Given the description of an element on the screen output the (x, y) to click on. 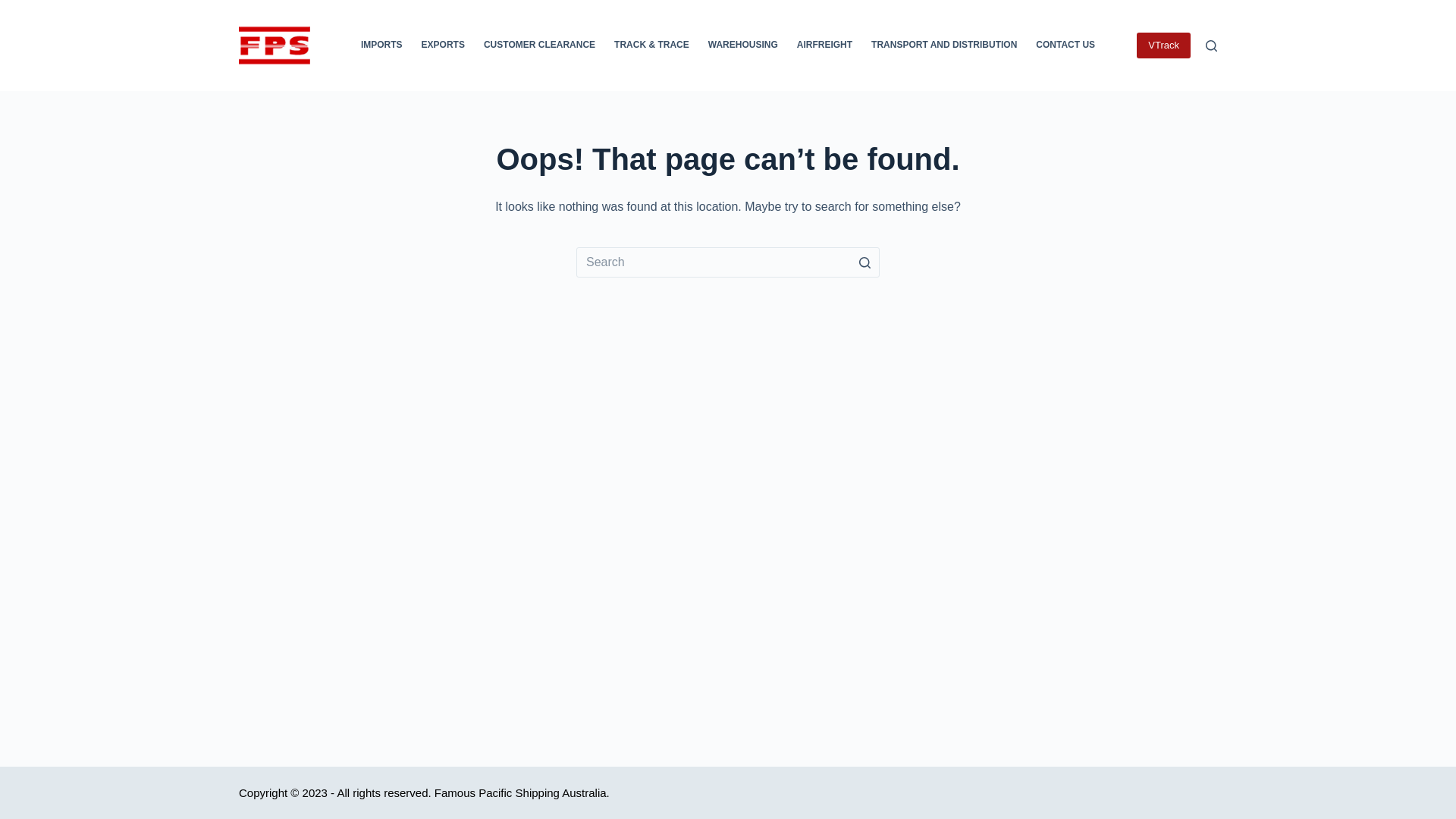
Skip to content Element type: text (15, 7)
TRACK & TRACE Element type: text (652, 45)
IMPORTS Element type: text (381, 45)
CUSTOMER CLEARANCE Element type: text (538, 45)
EXPORTS Element type: text (442, 45)
AIRFREIGHT Element type: text (824, 45)
TRANSPORT AND DISTRIBUTION Element type: text (944, 45)
Search for... Element type: hover (727, 262)
WAREHOUSING Element type: text (742, 45)
CONTACT US Element type: text (1065, 45)
VTrack Element type: text (1163, 45)
